Given the description of an element on the screen output the (x, y) to click on. 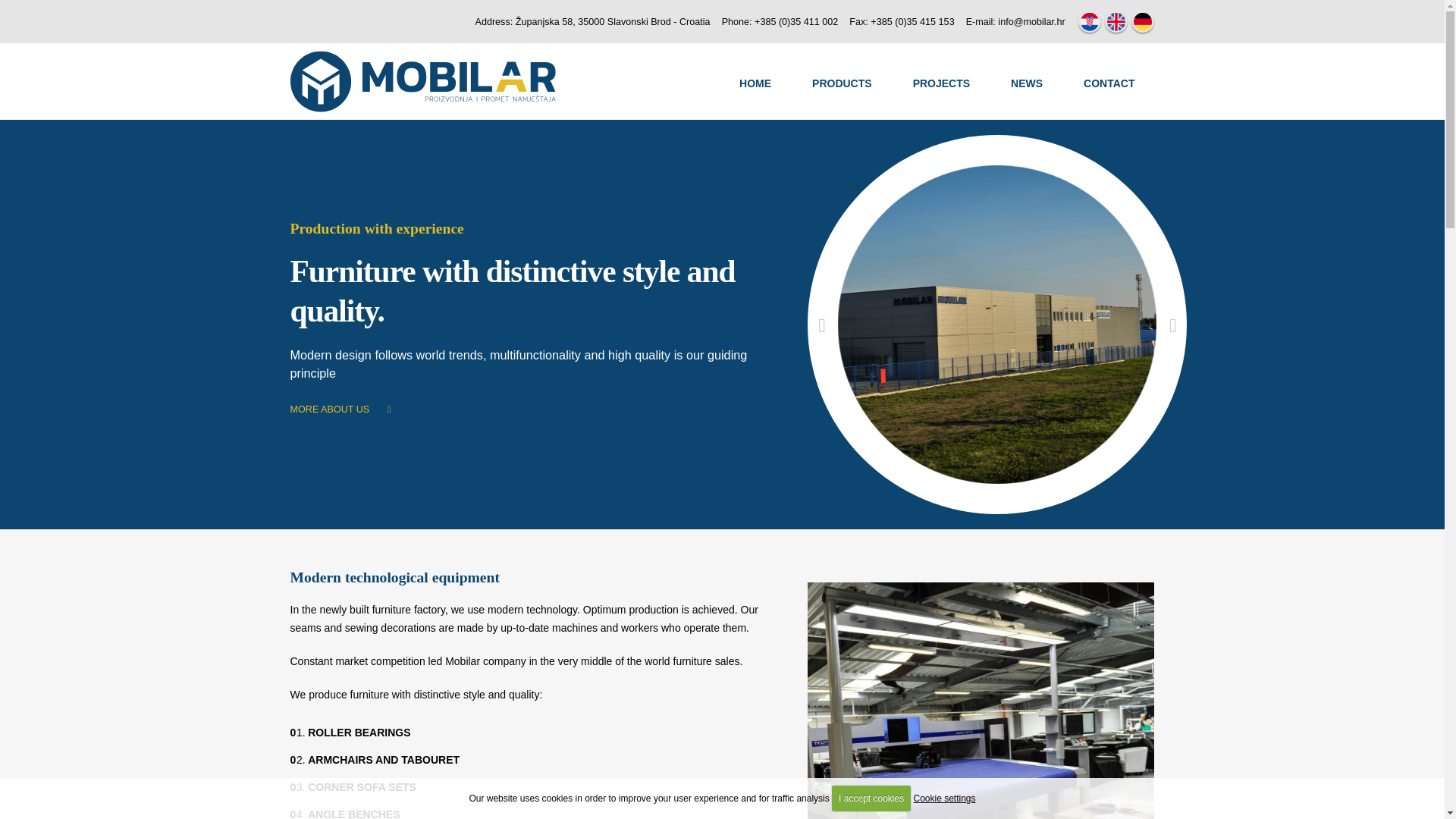
HOME (754, 83)
CONTACT (1109, 83)
MORE ABOUT US (339, 409)
CORNER SOFA SETS (361, 787)
Mobilar d.o.o. - German (1142, 20)
More about us (339, 409)
Mobilar d.o.o. - News (1026, 83)
Mobilar d.o.o. Home (754, 83)
PROJECTS (941, 83)
Mobilar d.o.o. - Products (841, 83)
ANGLE BENCHES (352, 813)
Mobilar d.o.o. - English (1115, 20)
Mobilar d.o.o. - Projects (941, 83)
ROLLER BEARINGS (358, 732)
NEWS (1026, 83)
